Given the description of an element on the screen output the (x, y) to click on. 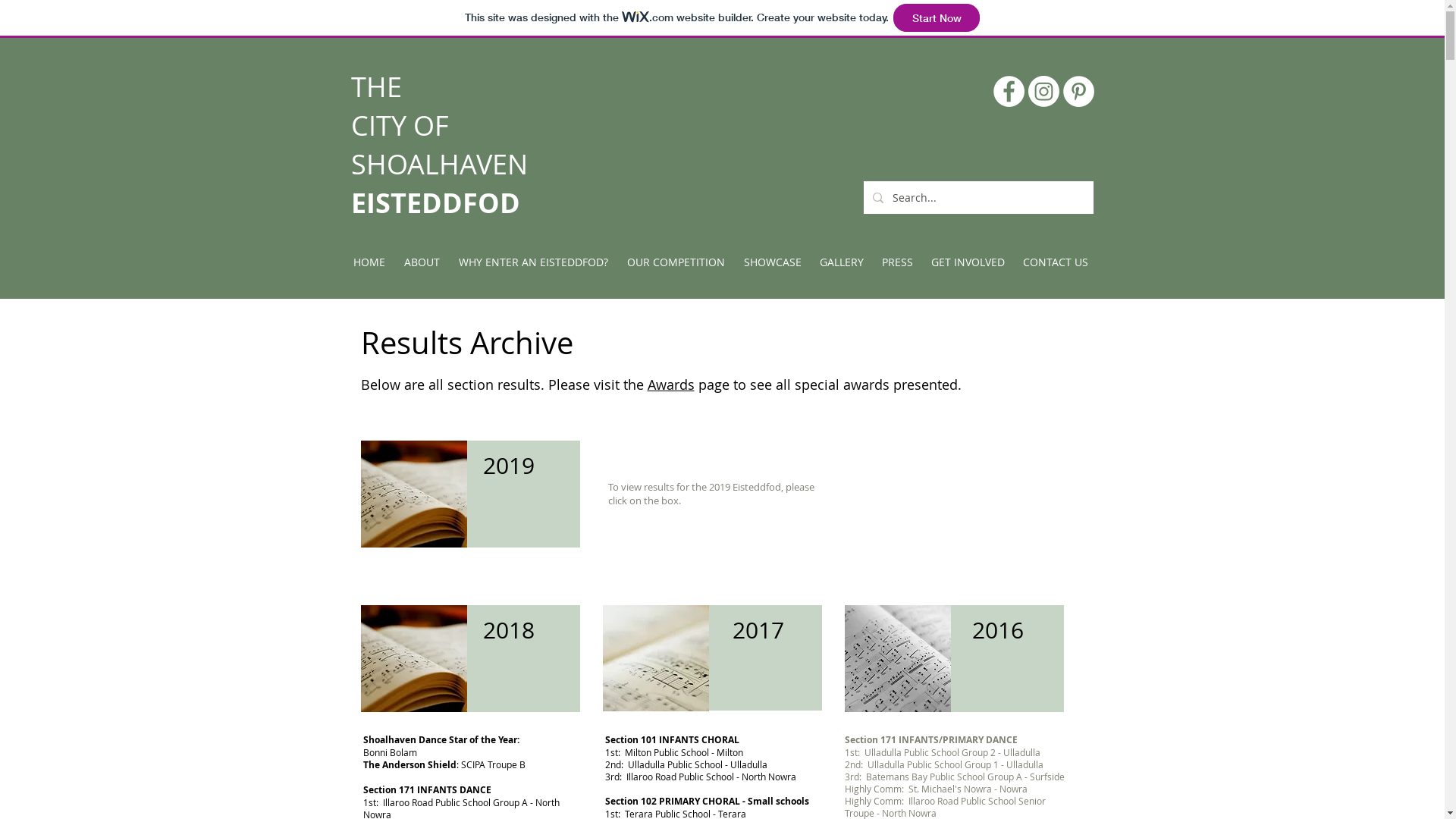
GALLERY Element type: text (842, 262)
Music Notes Element type: hover (413, 493)
Music Notes Element type: hover (413, 658)
Awards Element type: text (670, 384)
GET INVOLVED Element type: text (967, 262)
CONTACT US Element type: text (1056, 262)
Musical Note Element type: hover (655, 658)
PRESS Element type: text (897, 262)
HOME Element type: text (369, 262)
Nocturne Element type: hover (897, 658)
SHOWCASE Element type: text (773, 262)
